Given the description of an element on the screen output the (x, y) to click on. 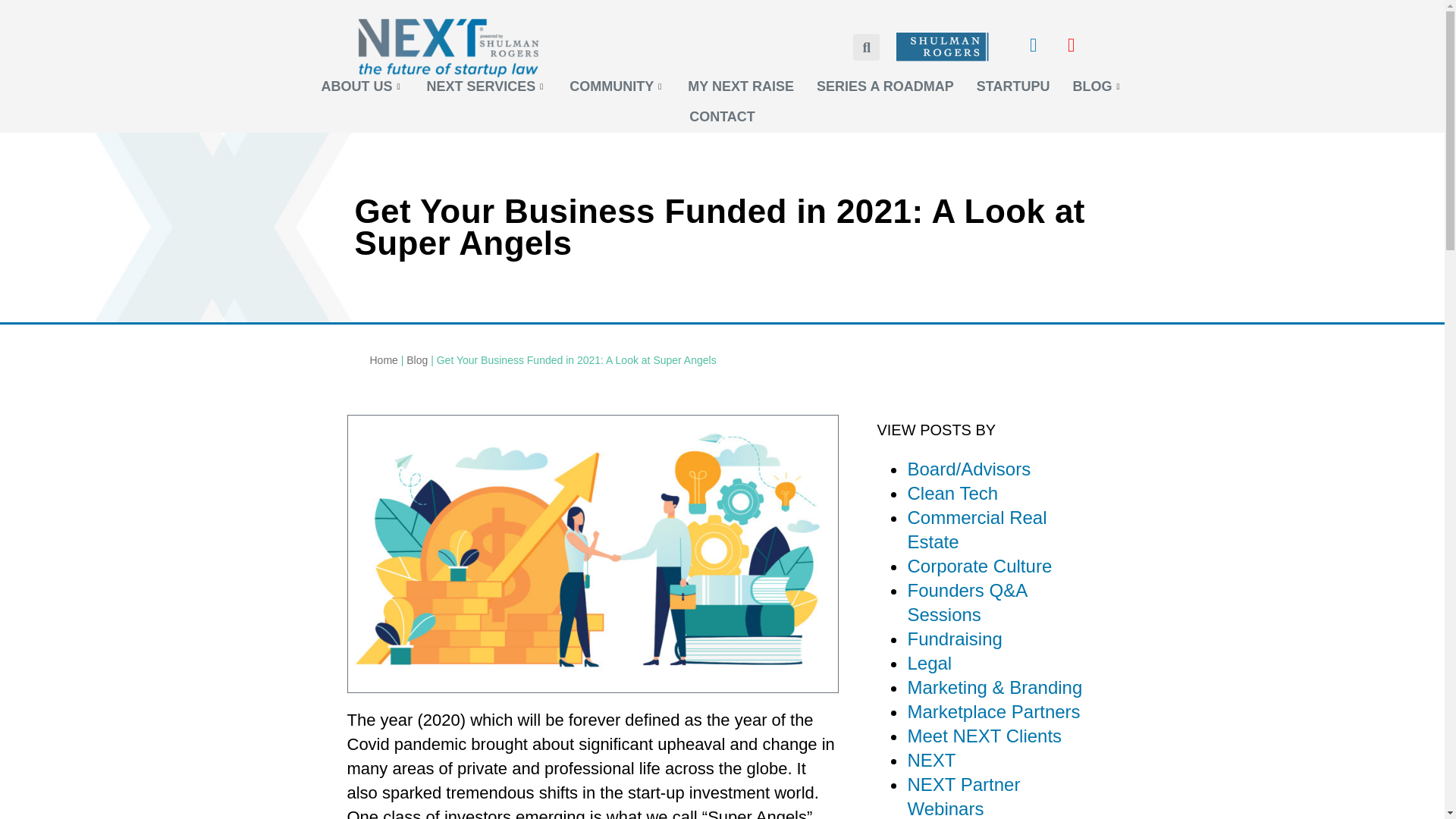
NEXT SERVICES (486, 87)
ABOUT US (362, 87)
COMMUNITY (617, 87)
MY NEXT RAISE (741, 87)
SERIES A ROADMAP (885, 87)
